Given the description of an element on the screen output the (x, y) to click on. 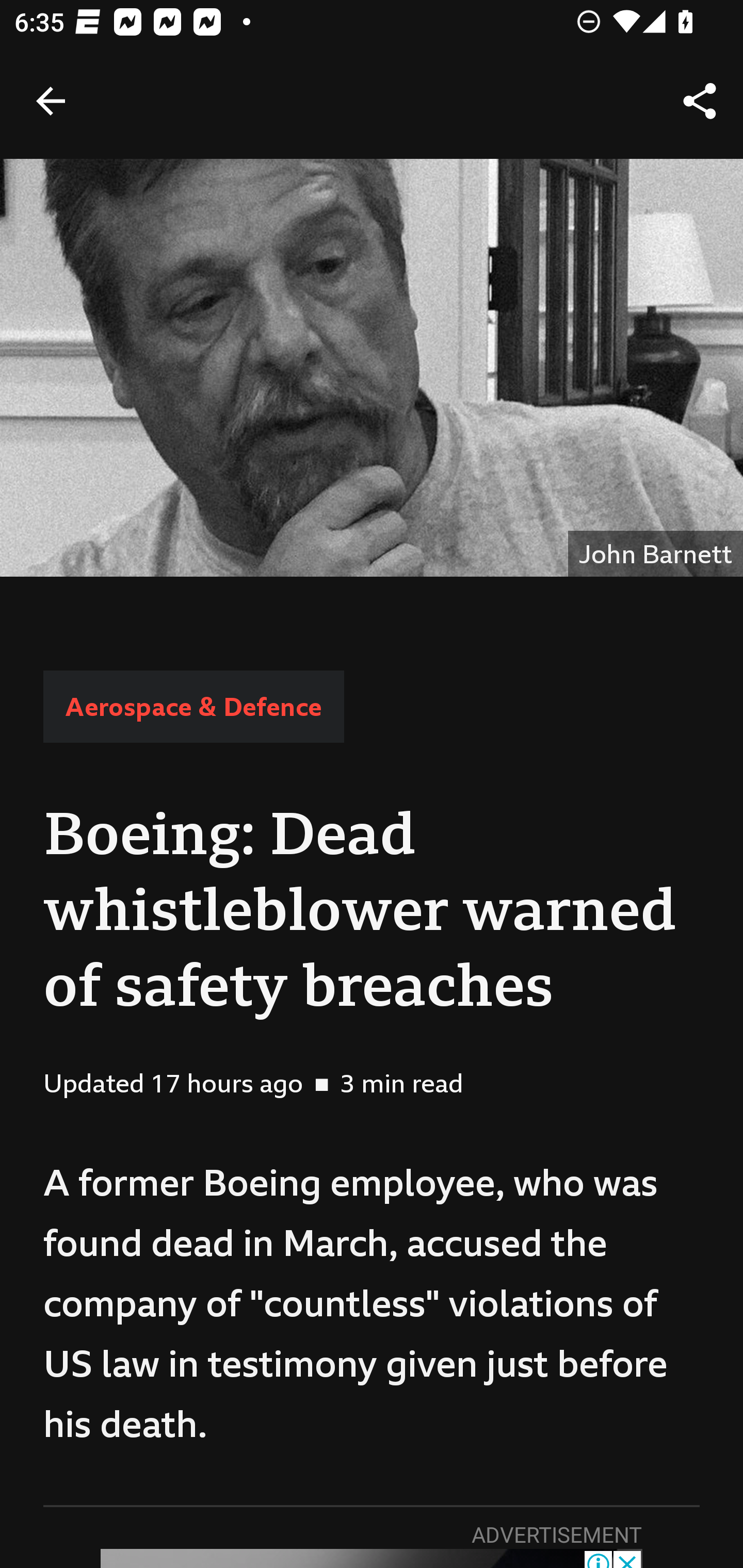
Back (50, 101)
Share (699, 101)
John Barnett (371, 367)
Aerospace & Defence (193, 706)
